Given the description of an element on the screen output the (x, y) to click on. 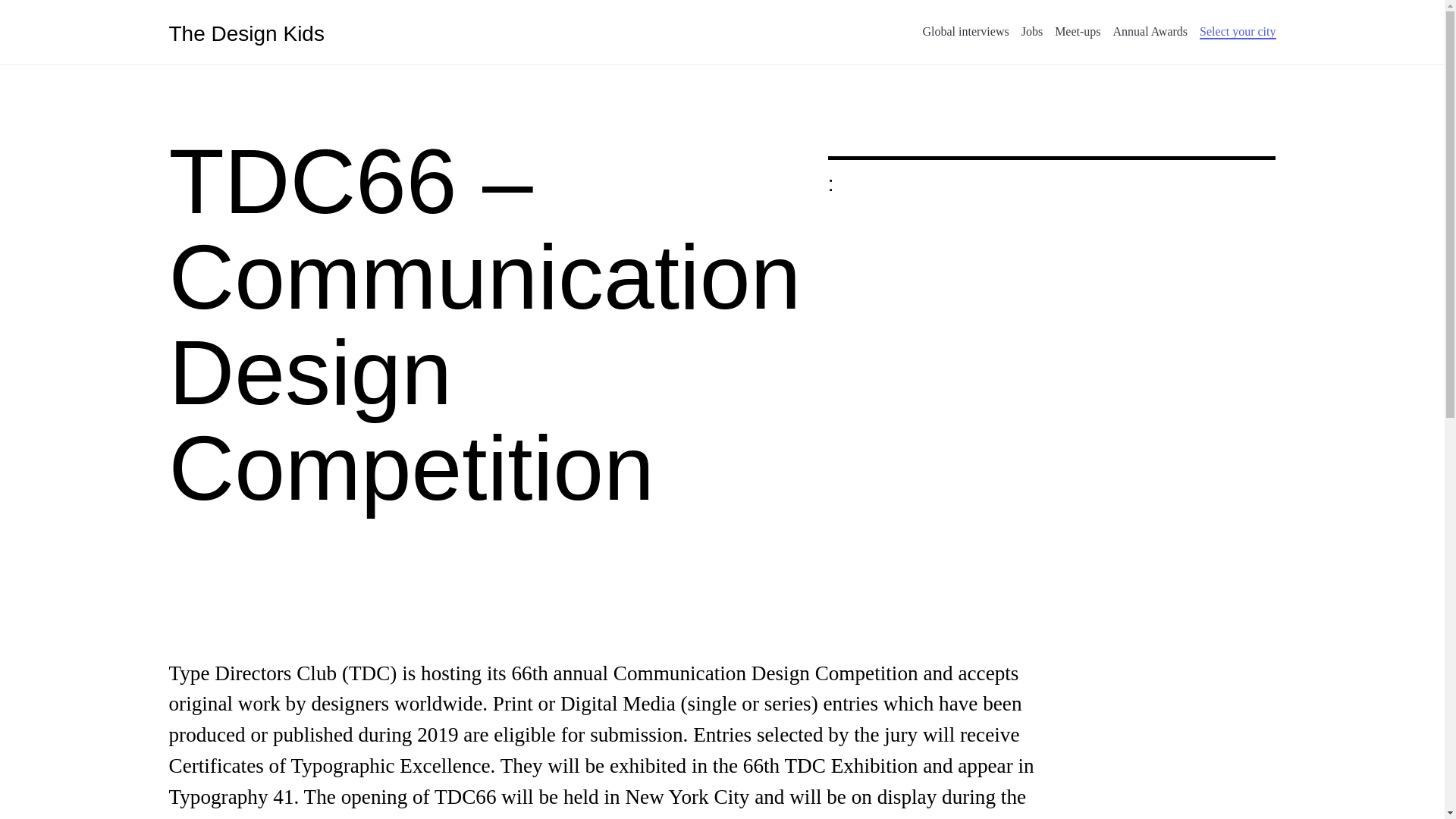
Meet-ups (1077, 31)
Annual Awards (1150, 31)
The Design Kids (245, 31)
Jobs (1032, 31)
Select your city (1237, 32)
Global interviews (965, 31)
